Given the description of an element on the screen output the (x, y) to click on. 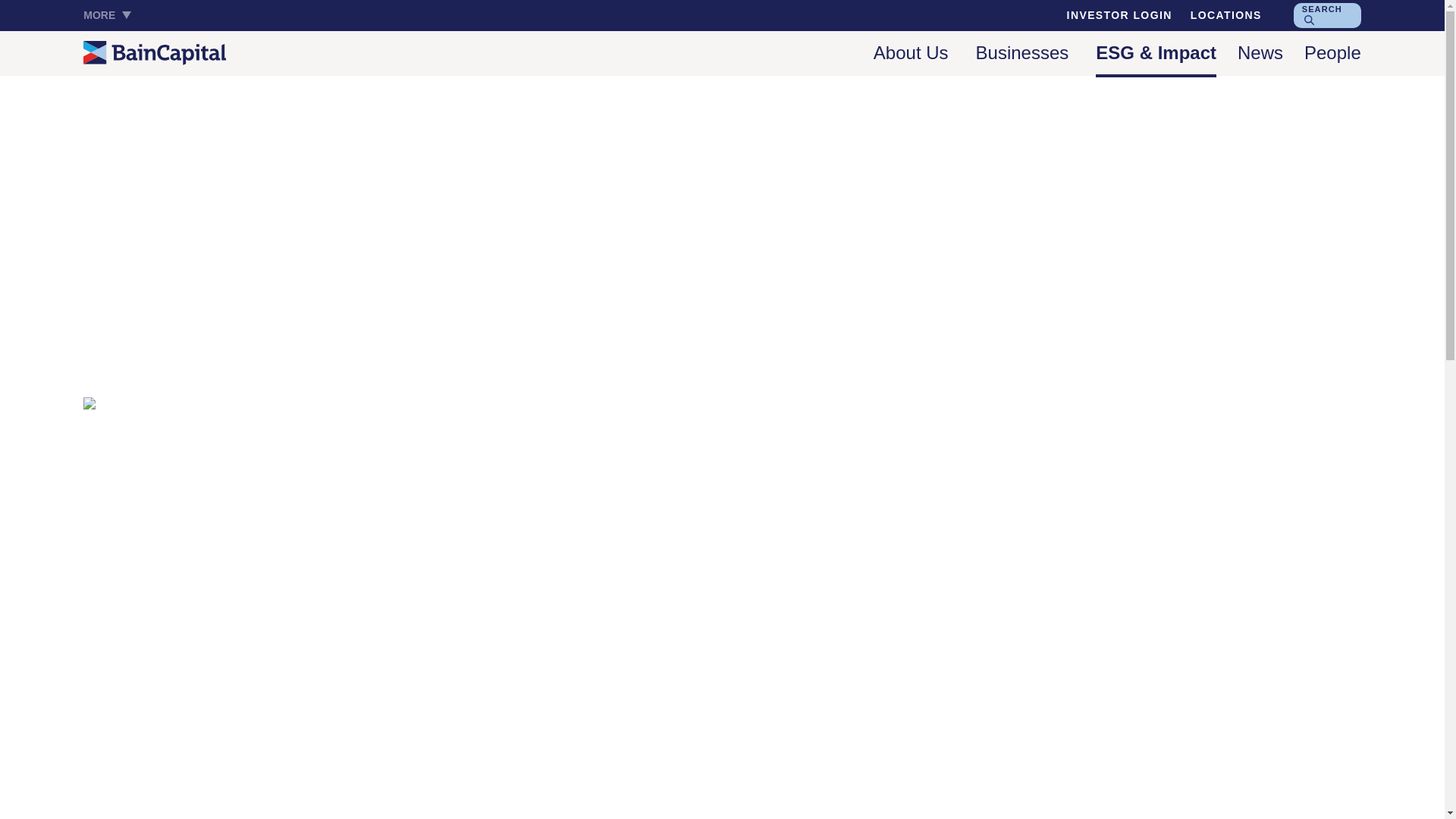
News (1259, 53)
MORE (106, 14)
INVESTOR LOGIN (1119, 15)
LOCATIONS (1225, 15)
Businesses (1022, 53)
People (1332, 53)
SEARCH (1327, 15)
About Us (911, 53)
